Given the description of an element on the screen output the (x, y) to click on. 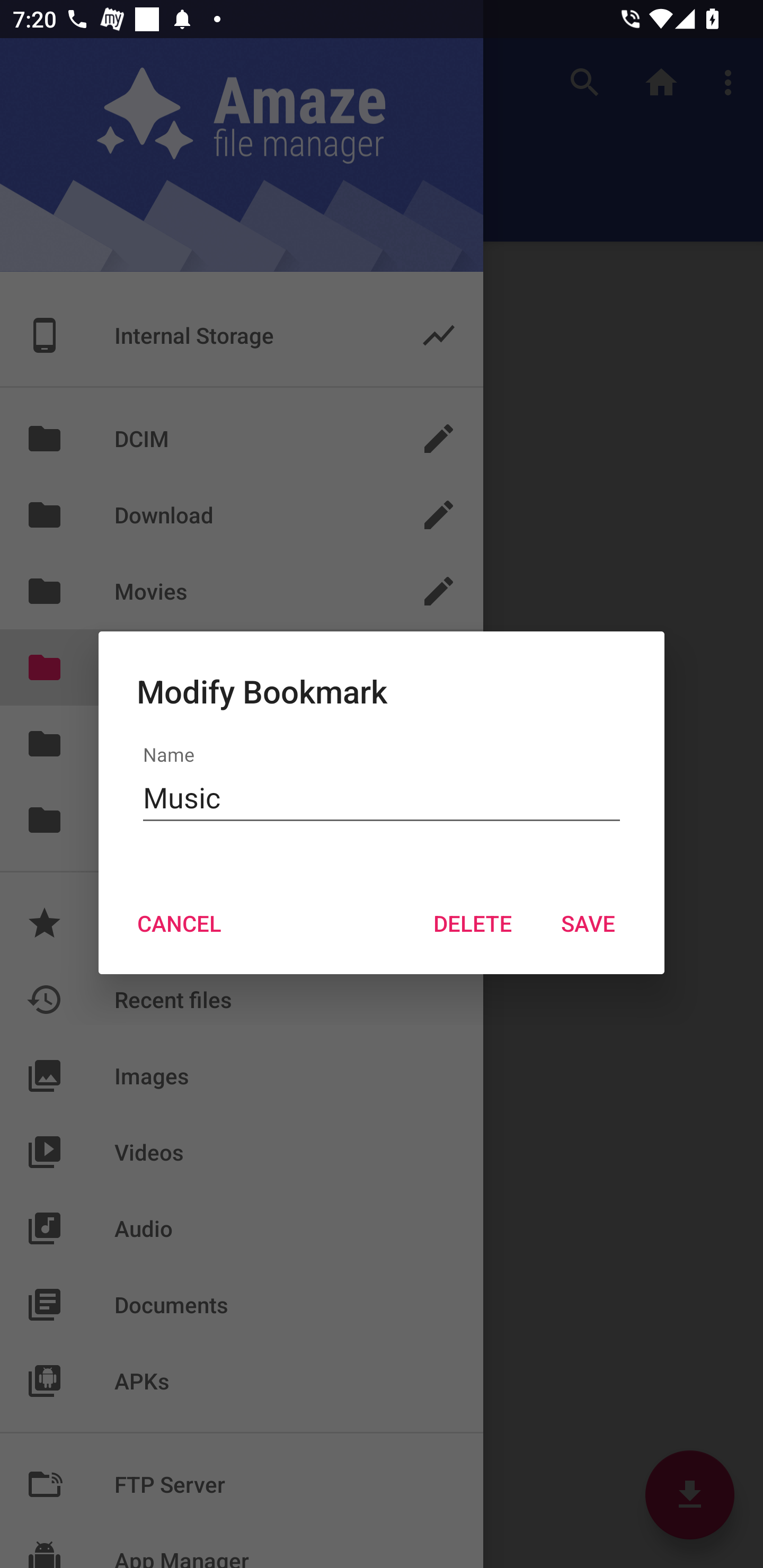
Music (381, 798)
CANCEL (178, 923)
DELETE (472, 923)
SAVE (588, 923)
